Given the description of an element on the screen output the (x, y) to click on. 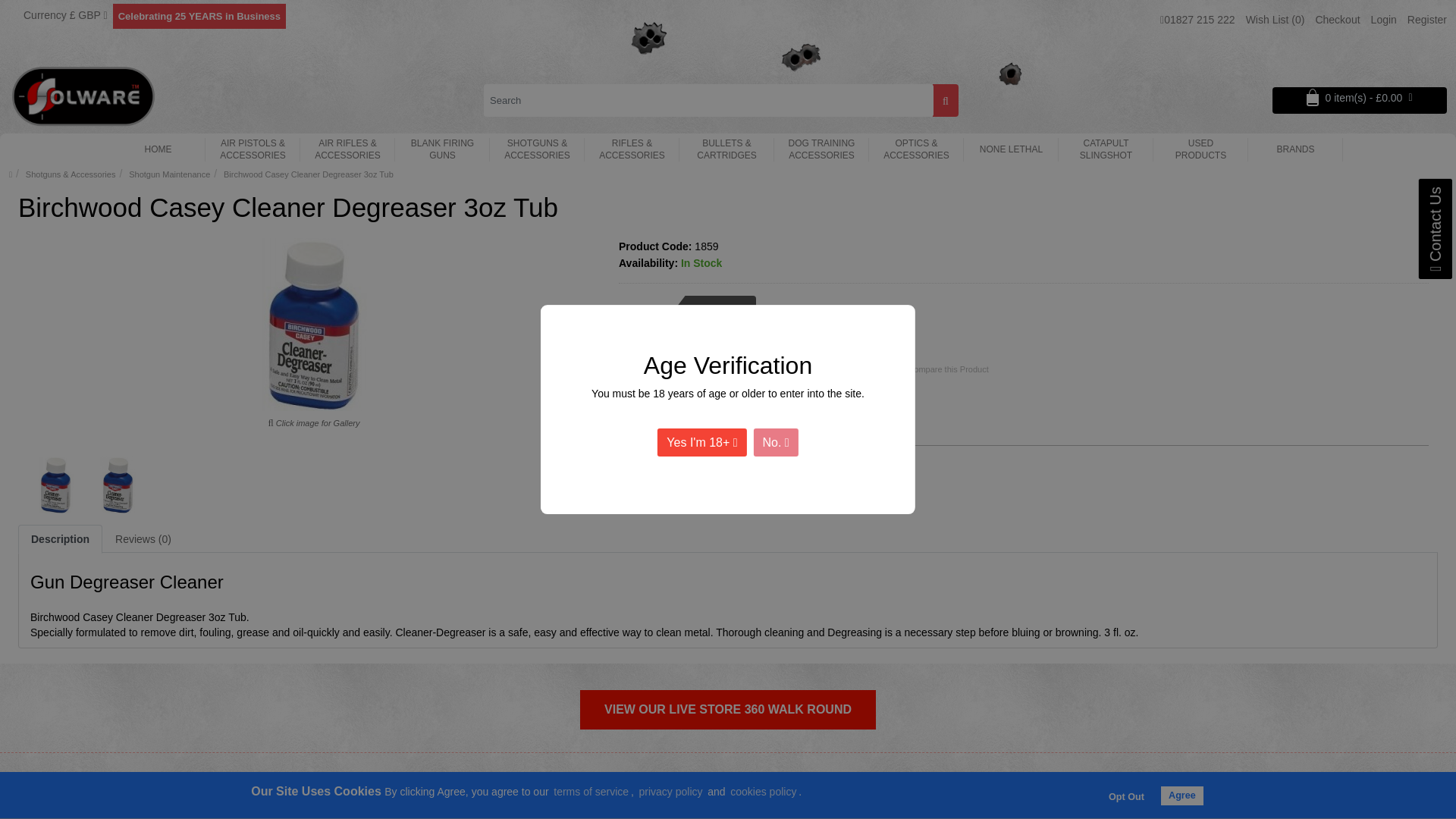
Birchwood Casey Cleaner Degreaser 3oz Tub (313, 324)
1 (668, 367)
Solware Gun Shop (83, 96)
Home (158, 149)
Birchwood Casey Cleaner Degreaser 3oz Tub (117, 484)
Brands (1295, 149)
Birchwood Casey Cleaner Degreaser 3oz Tub (55, 484)
